Given the description of an element on the screen output the (x, y) to click on. 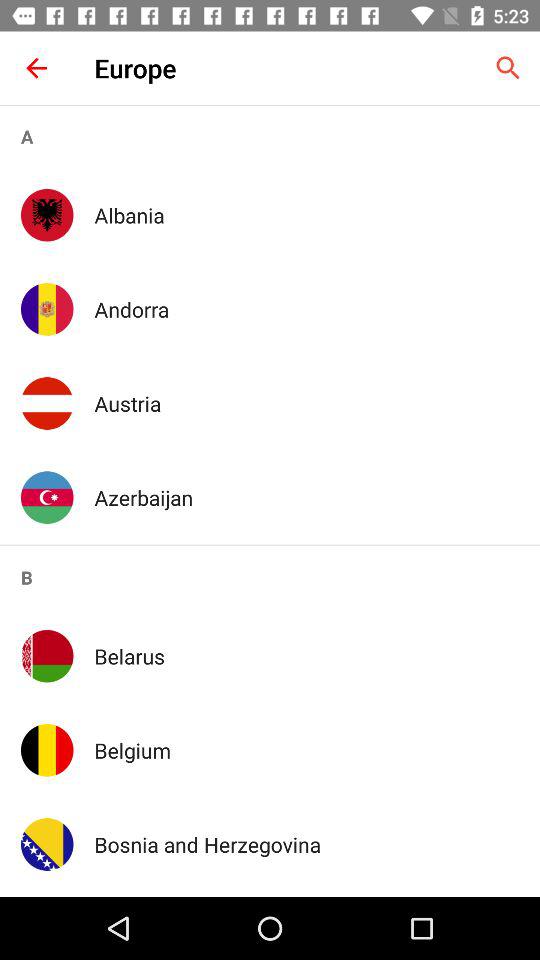
select the app below the belarus icon (306, 750)
